Given the description of an element on the screen output the (x, y) to click on. 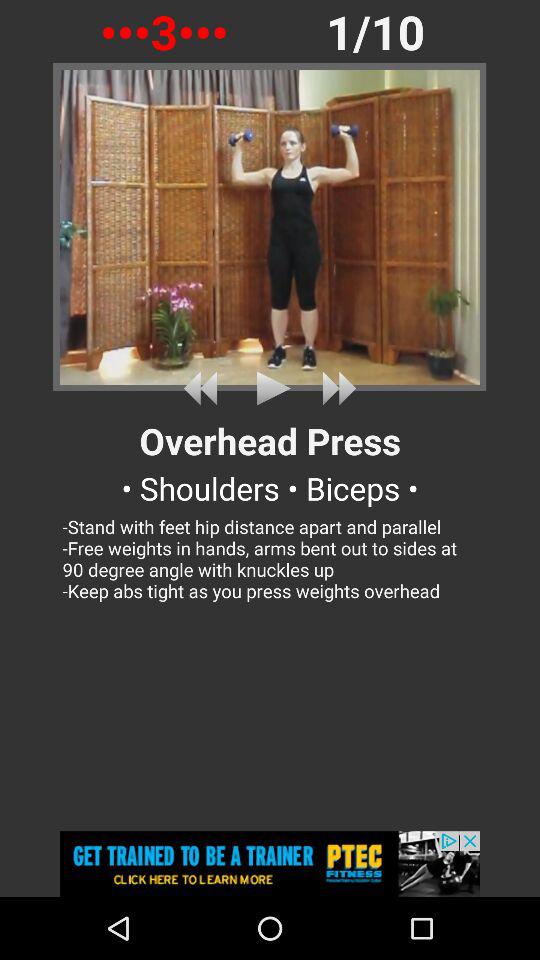
to content the advertisements (270, 864)
